Given the description of an element on the screen output the (x, y) to click on. 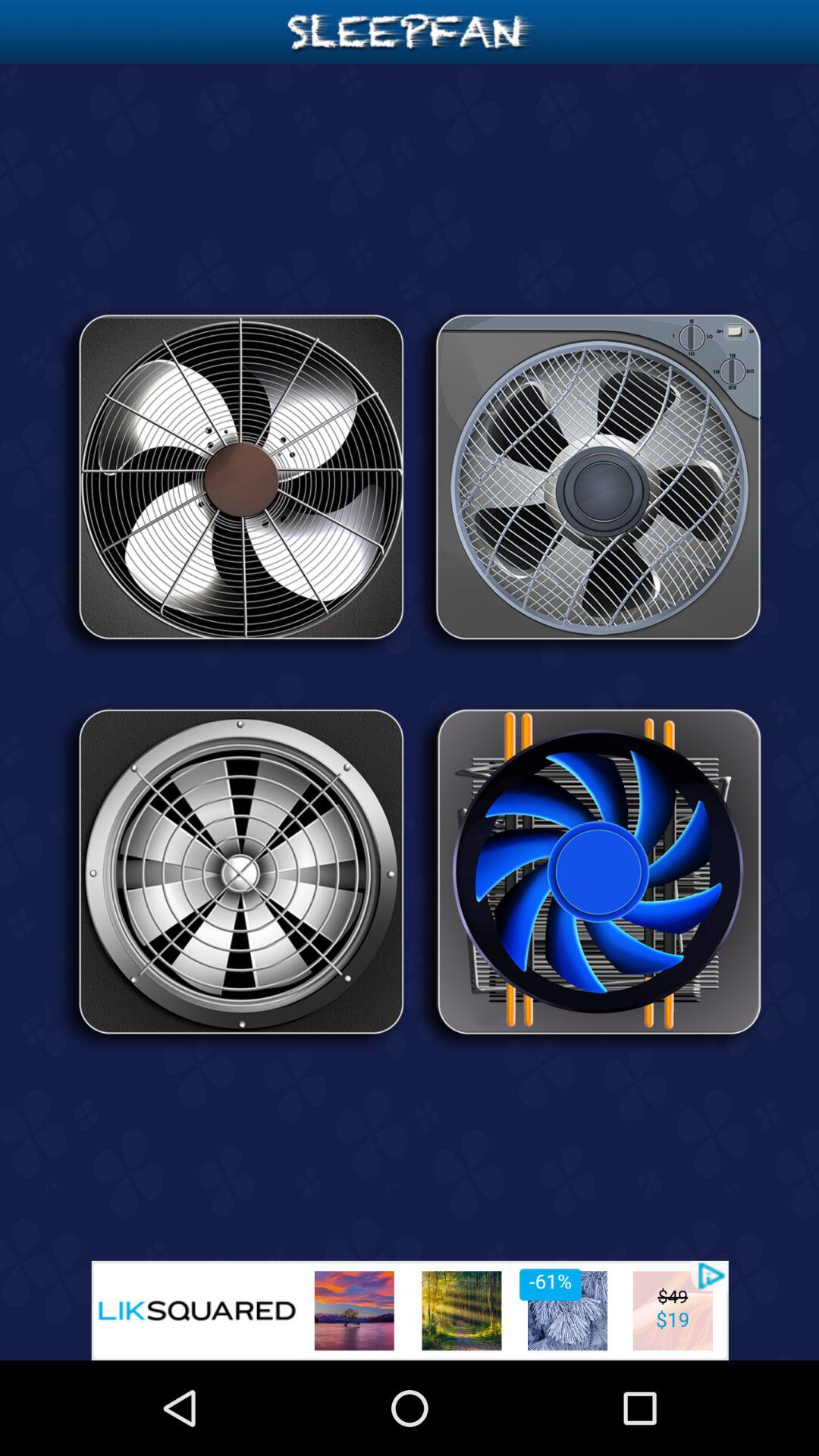
select fan sound (587, 482)
